Given the description of an element on the screen output the (x, y) to click on. 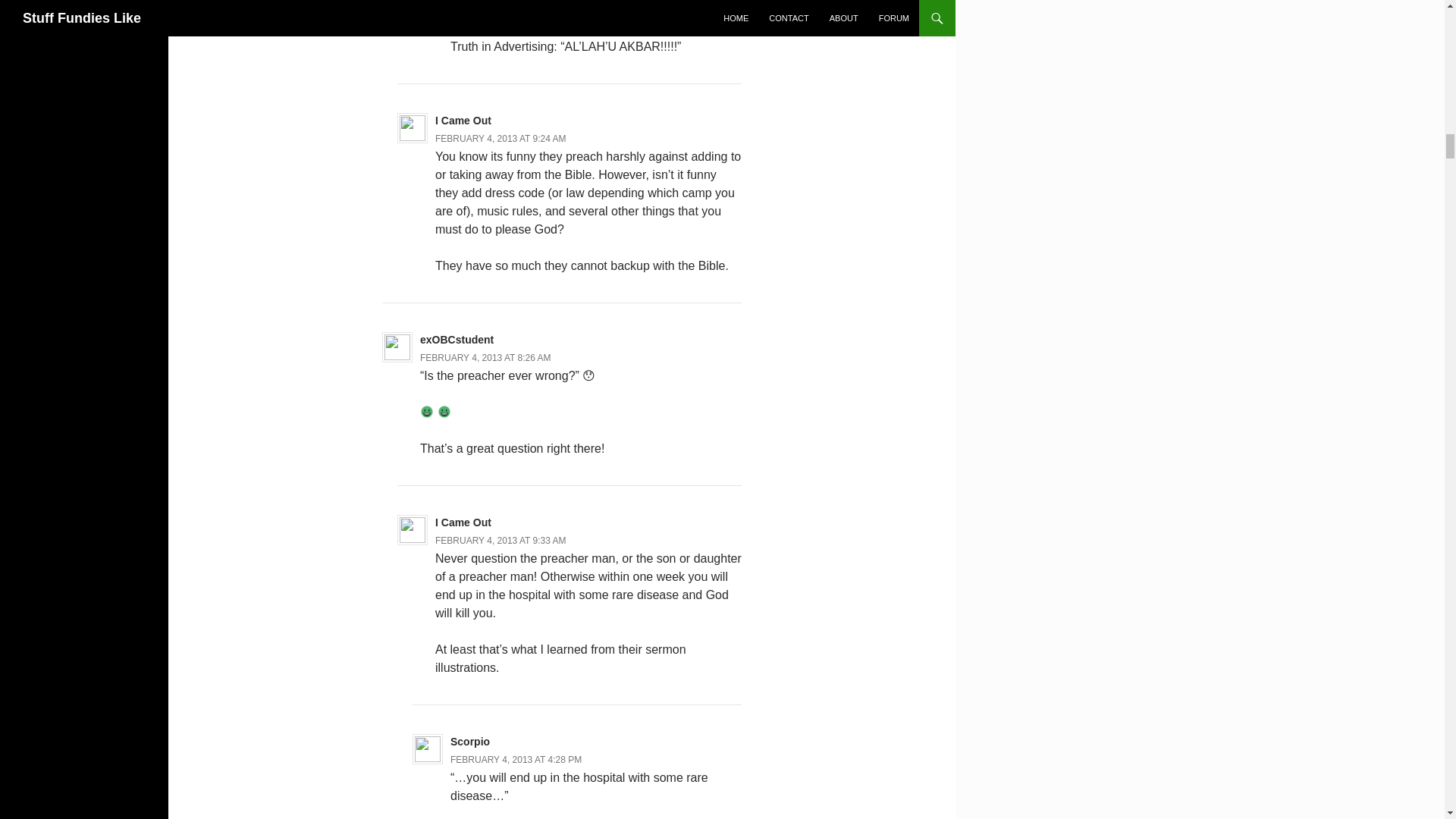
FEBRUARY 4, 2013 AT 9:33 AM (500, 540)
FEBRUARY 4, 2013 AT 4:28 PM (514, 759)
FEBRUARY 4, 2013 AT 9:24 AM (500, 138)
FEBRUARY 4, 2013 AT 8:26 AM (485, 357)
